Given the description of an element on the screen output the (x, y) to click on. 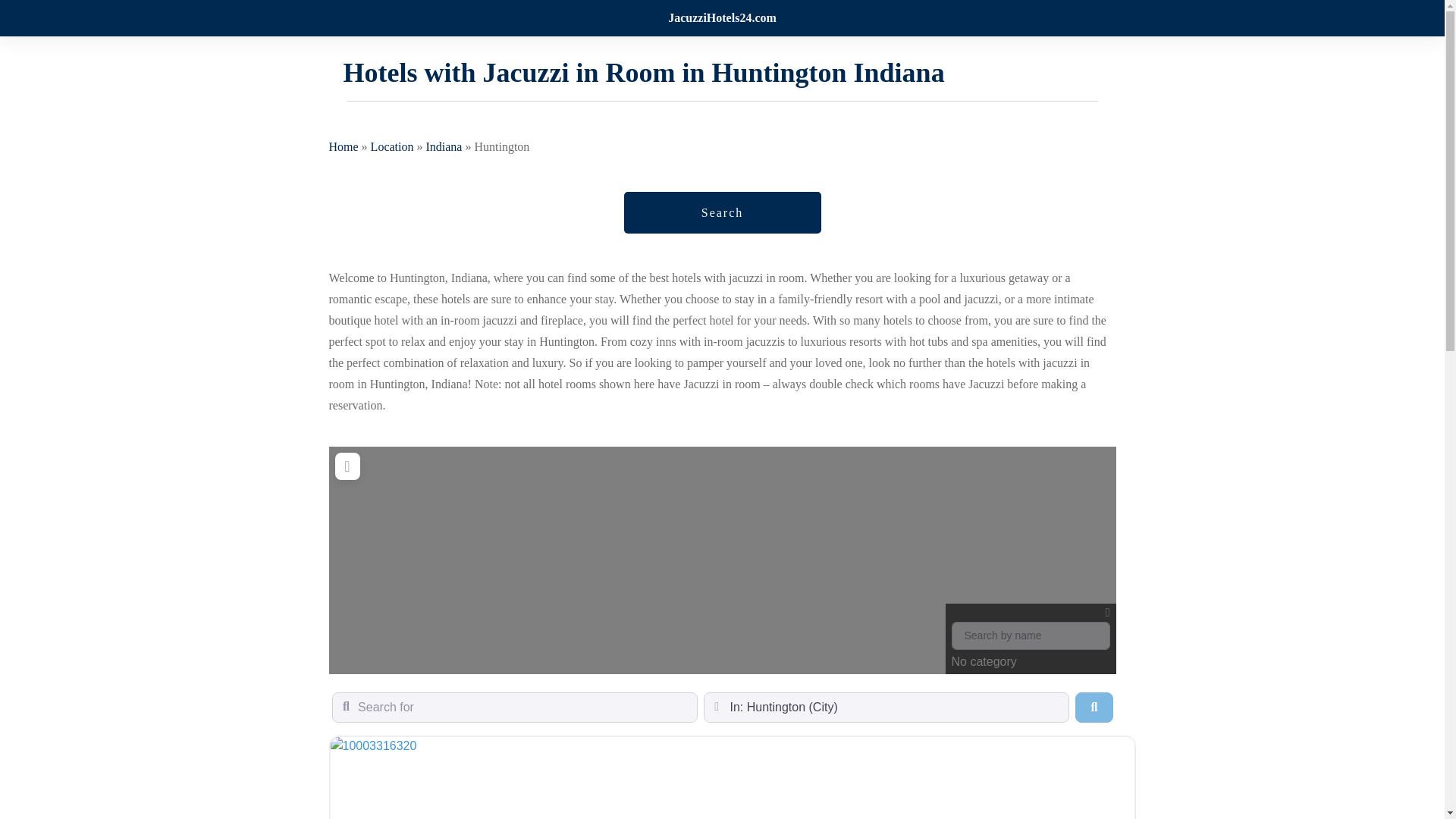
No category (1029, 638)
JacuzziHotels24.com (722, 17)
Search (1093, 707)
Home (343, 146)
Search (722, 212)
Location (392, 146)
Indiana (443, 146)
